Given the description of an element on the screen output the (x, y) to click on. 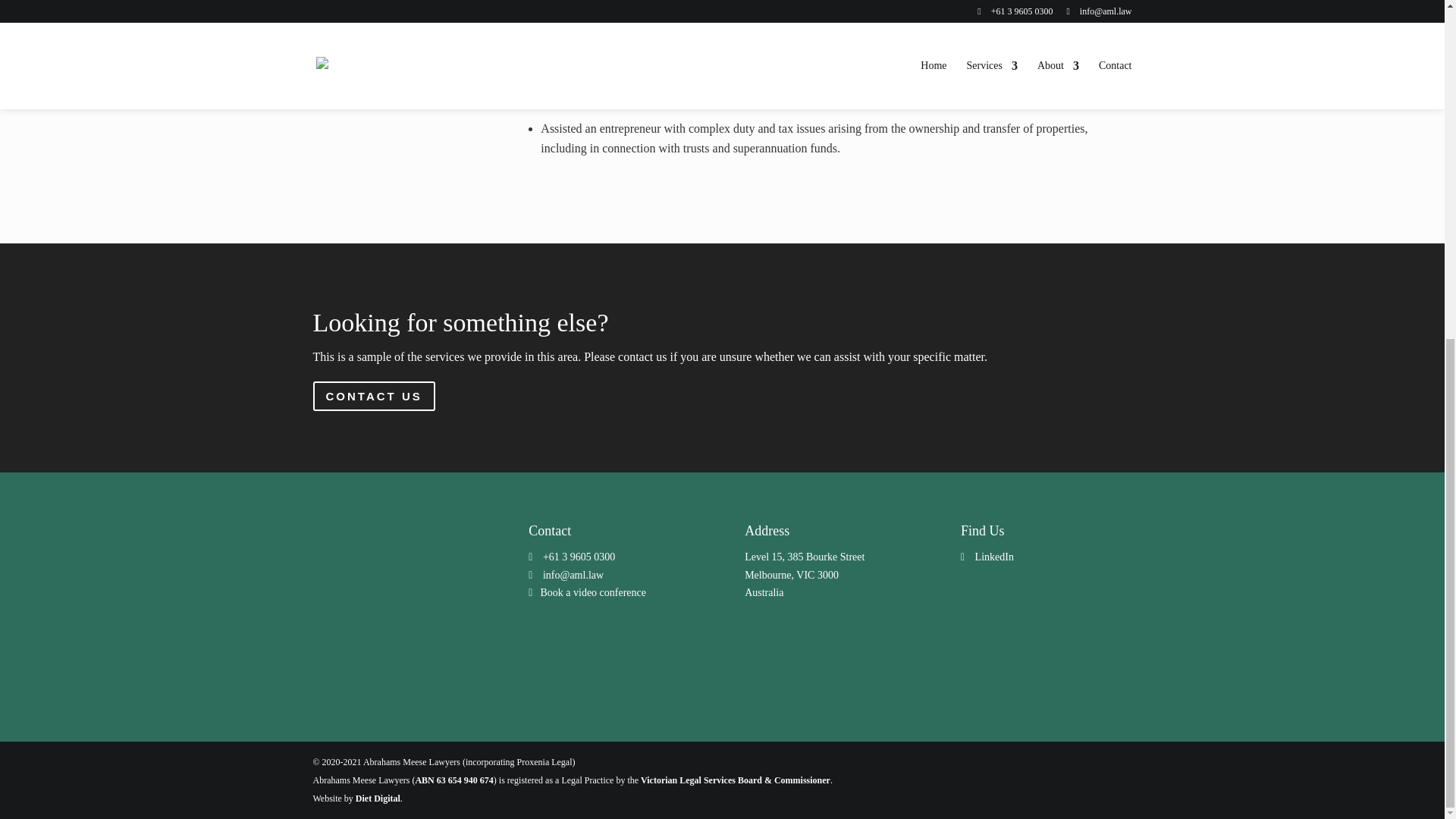
ABN 63 654 940 674 (453, 779)
Book a video conference (593, 592)
LinkedIn (994, 556)
CONTACT US (373, 396)
Diet Digital (377, 798)
